Given the description of an element on the screen output the (x, y) to click on. 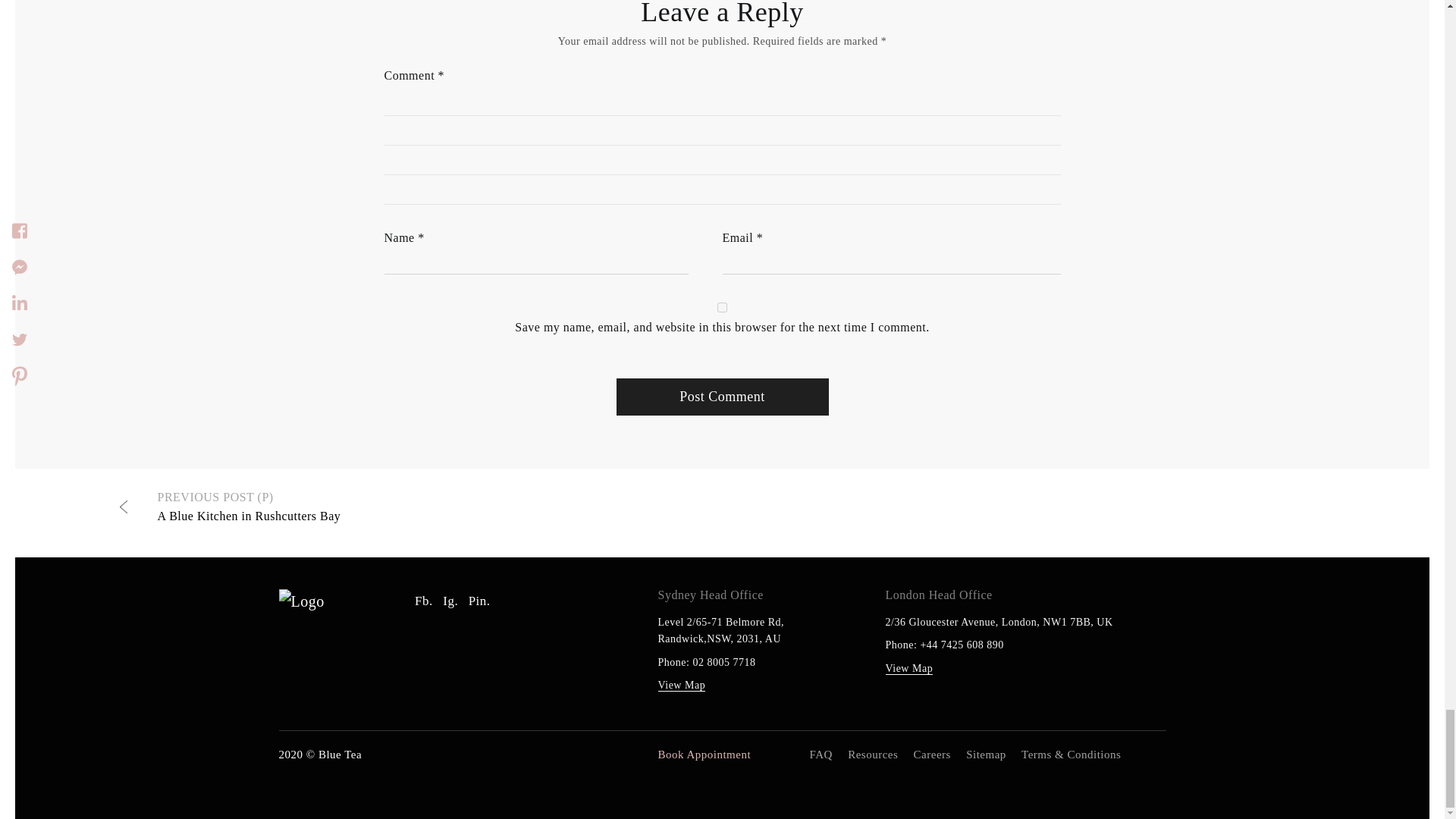
Post Comment (721, 396)
yes (721, 307)
